Given the description of an element on the screen output the (x, y) to click on. 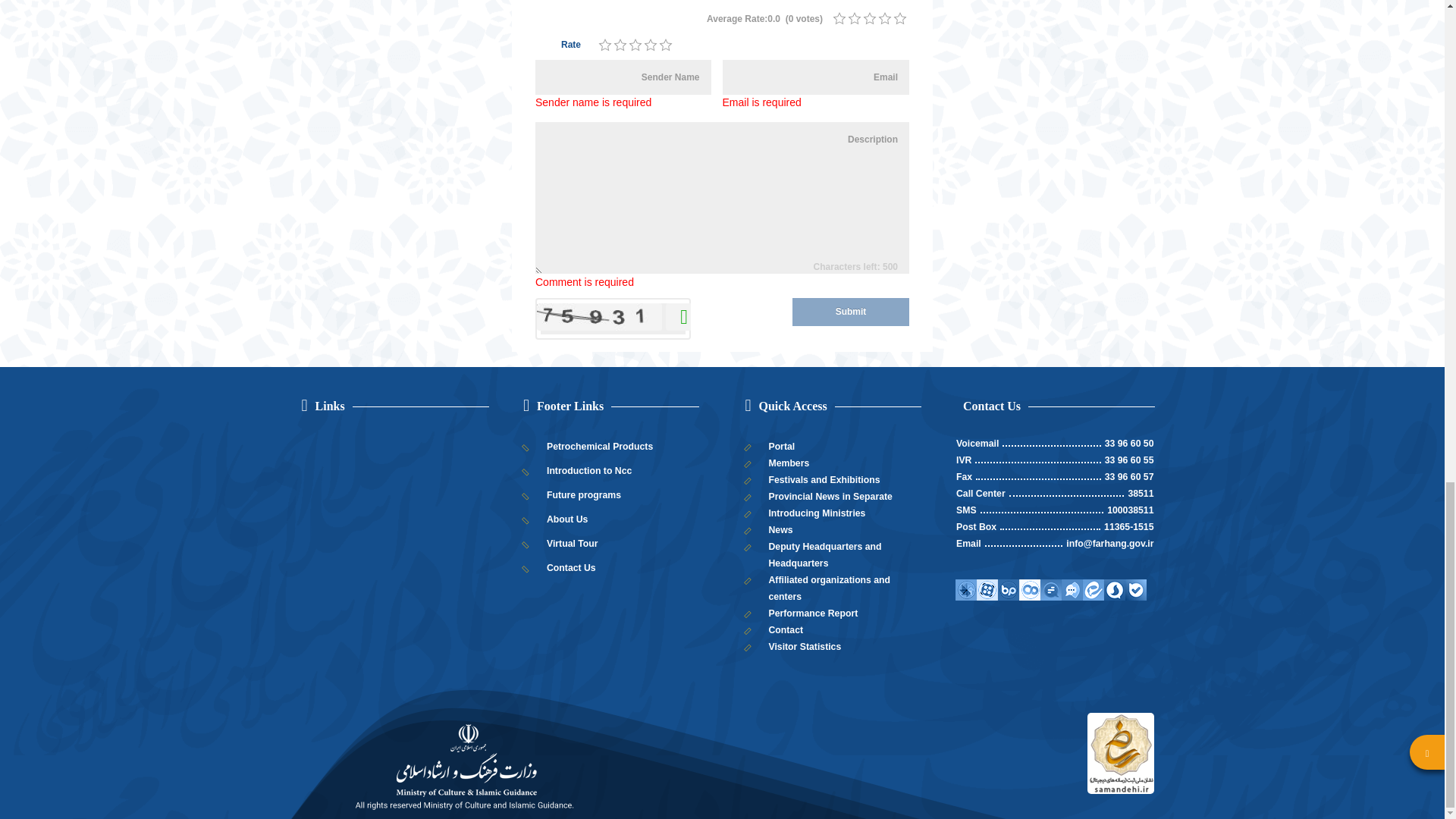
1 (838, 18)
5 (900, 18)
3 (869, 18)
2 (619, 45)
4 (650, 45)
2 (854, 18)
Submit (850, 311)
0 (854, 18)
Virtual Tour (611, 543)
2 (619, 45)
1 (604, 45)
Generate New Image (679, 316)
Introduction to Ncc (611, 470)
1 (604, 45)
3 (635, 45)
